Given the description of an element on the screen output the (x, y) to click on. 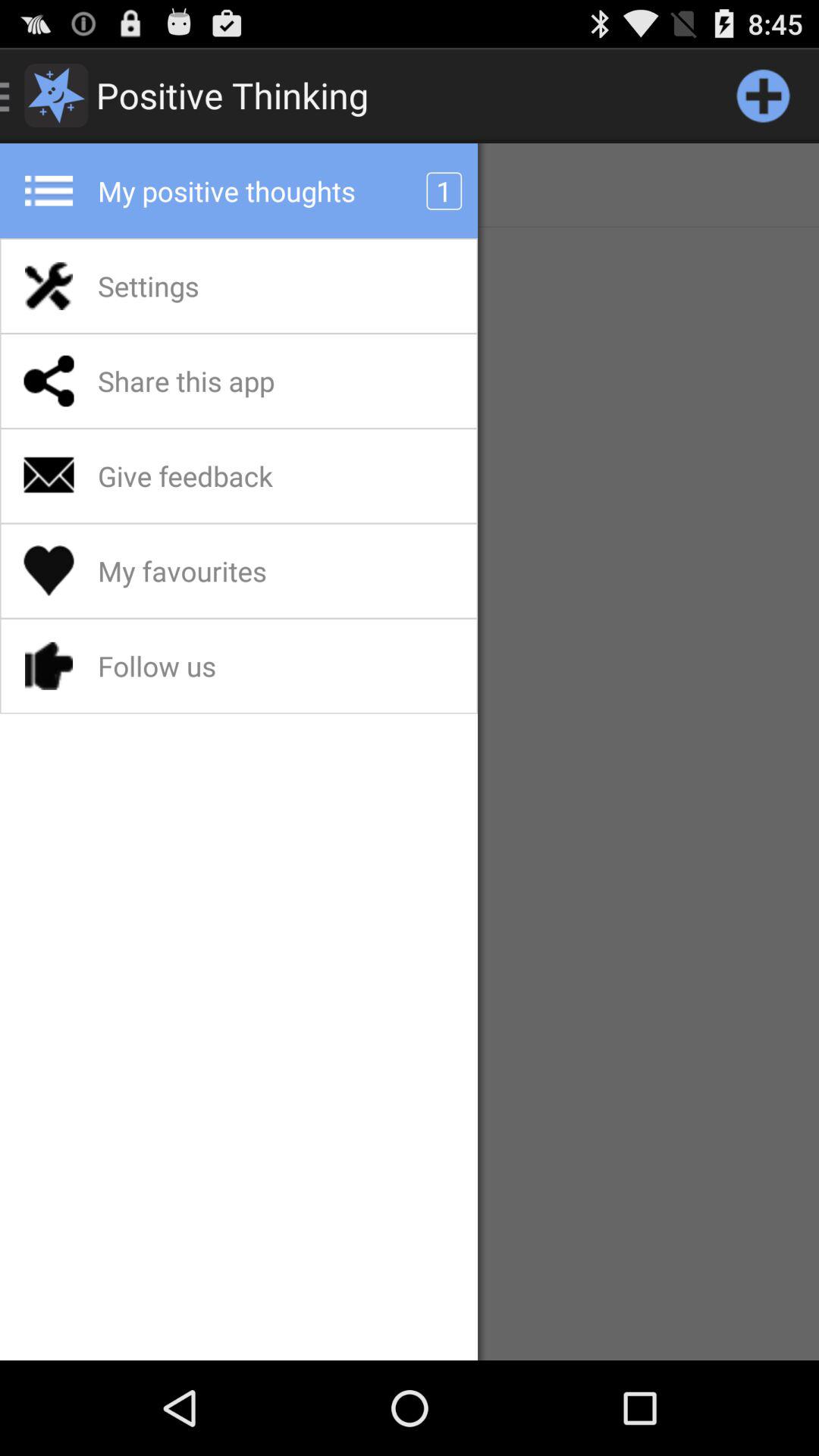
tap my positive thoughts item (266, 190)
